Given the description of an element on the screen output the (x, y) to click on. 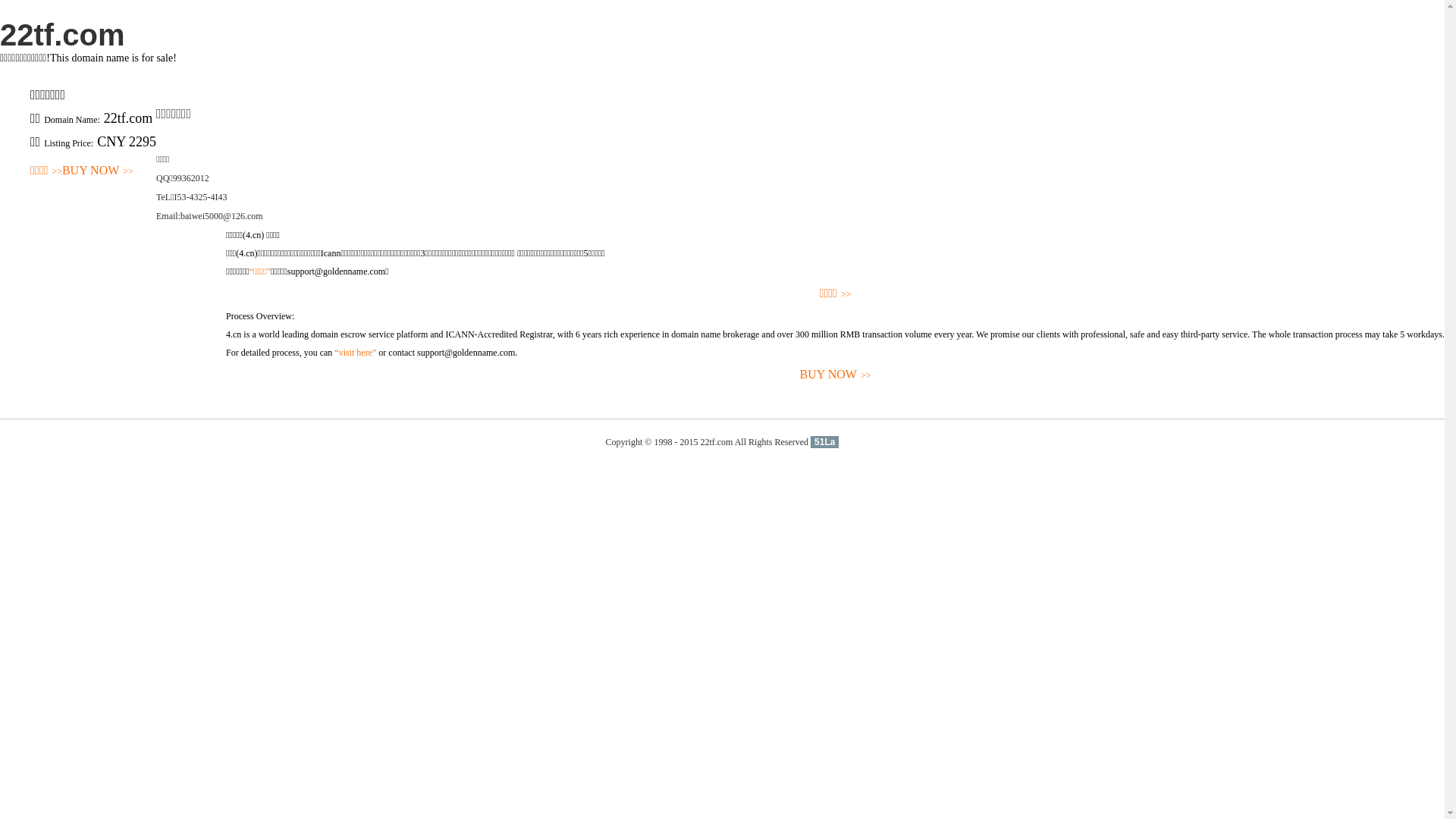
BUY NOW>> Element type: text (97, 170)
51La Element type: text (824, 441)
BUY NOW>> Element type: text (834, 374)
